Given the description of an element on the screen output the (x, y) to click on. 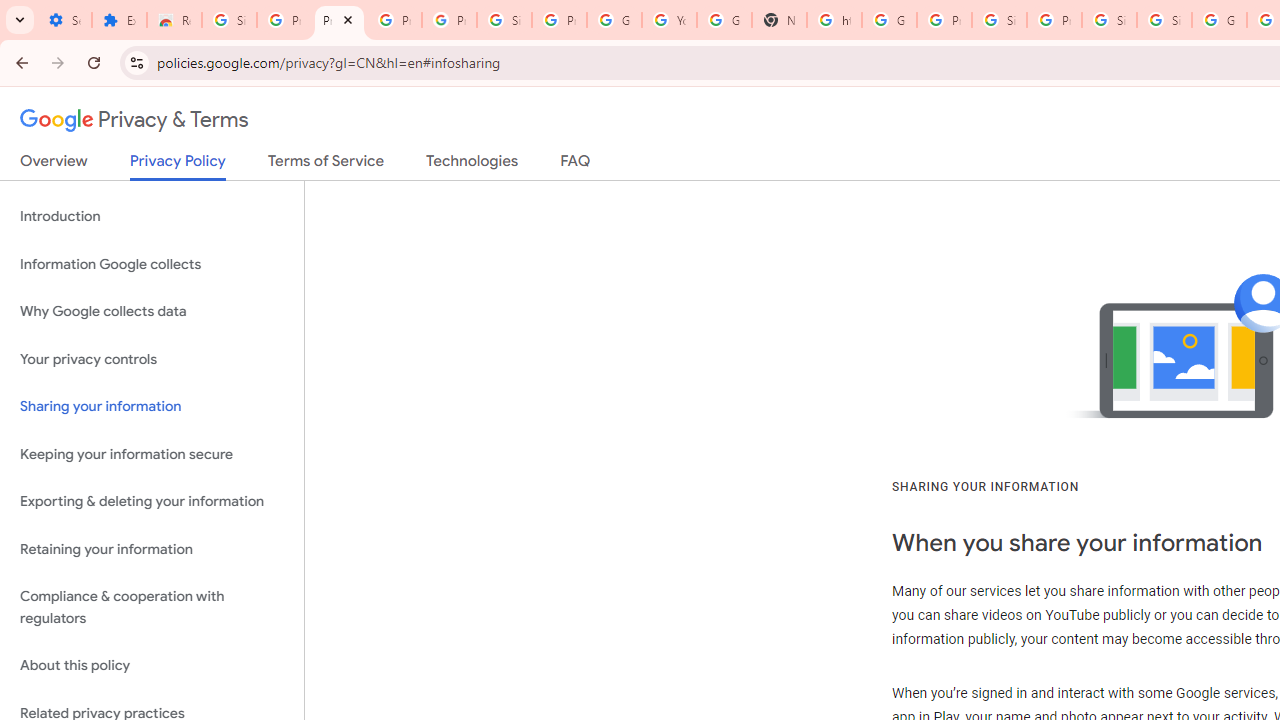
Why Google collects data (152, 312)
Google Account (614, 20)
YouTube (669, 20)
Compliance & cooperation with regulators (152, 607)
Retaining your information (152, 548)
Exporting & deleting your information (152, 502)
Terms of Service (326, 165)
Introduction (152, 216)
